Given the description of an element on the screen output the (x, y) to click on. 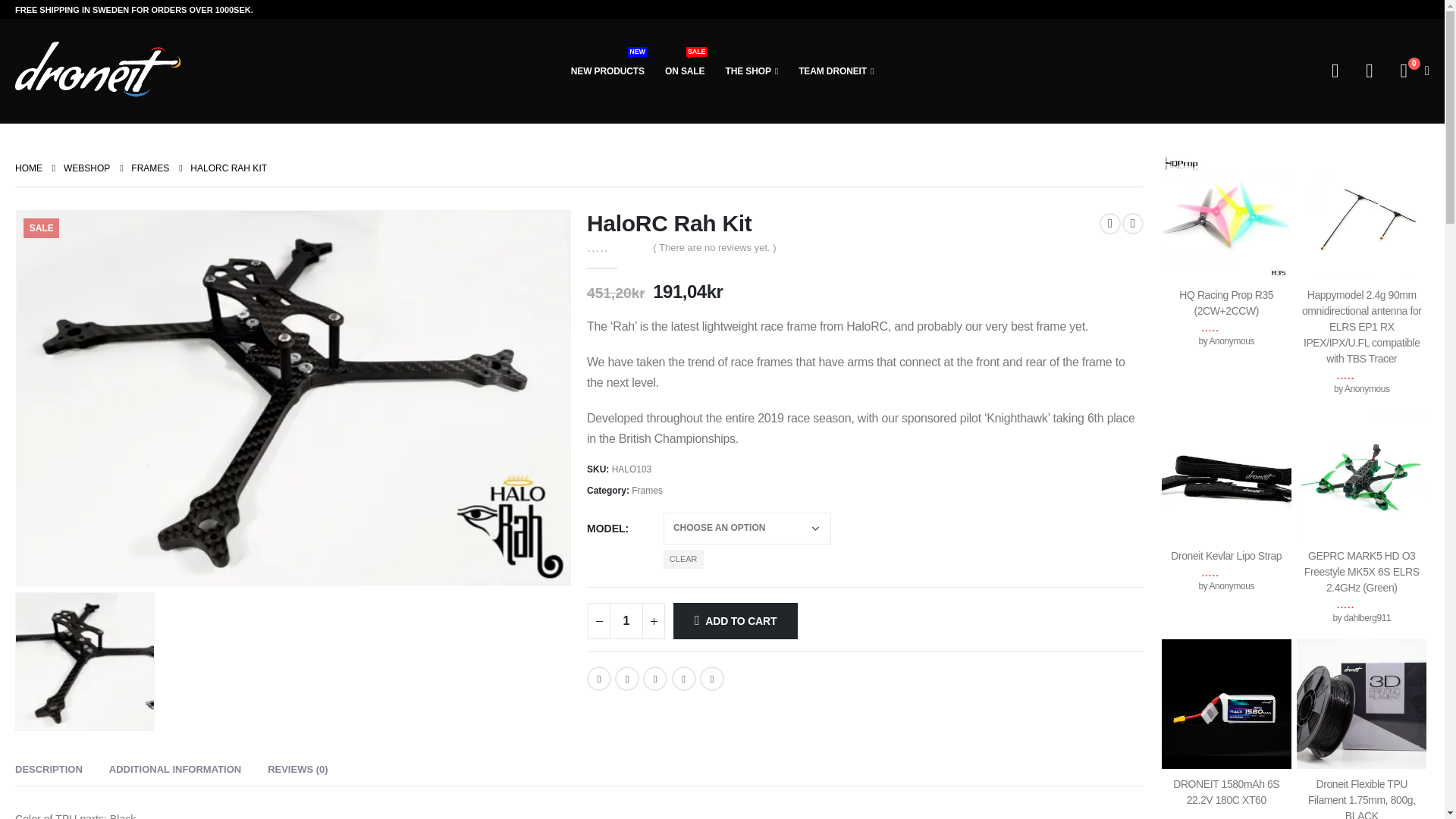
Email (711, 678)
Twitter (626, 678)
CLEAR (683, 558)
FRAMES (149, 167)
Go to Home Page (28, 167)
WEBSHOP (684, 71)
Facebook (87, 167)
Email (598, 678)
Droneit - FPV drones and accessories (711, 678)
